Given the description of an element on the screen output the (x, y) to click on. 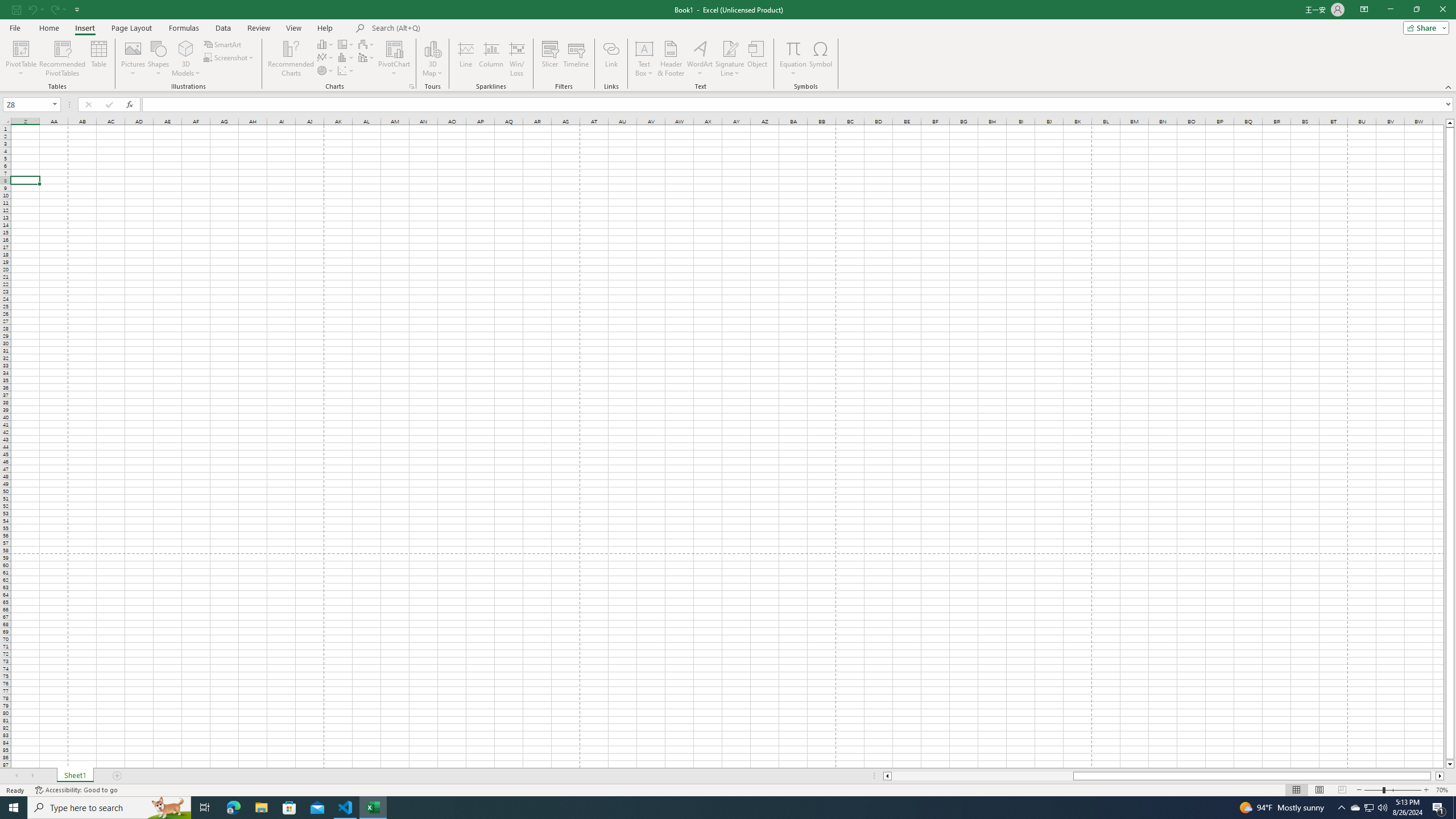
Insert Pie or Doughnut Chart (325, 69)
Signature Line (729, 58)
Recommended Charts (411, 85)
Link (611, 58)
Insert Statistic Chart (346, 56)
WordArt (699, 58)
